Given the description of an element on the screen output the (x, y) to click on. 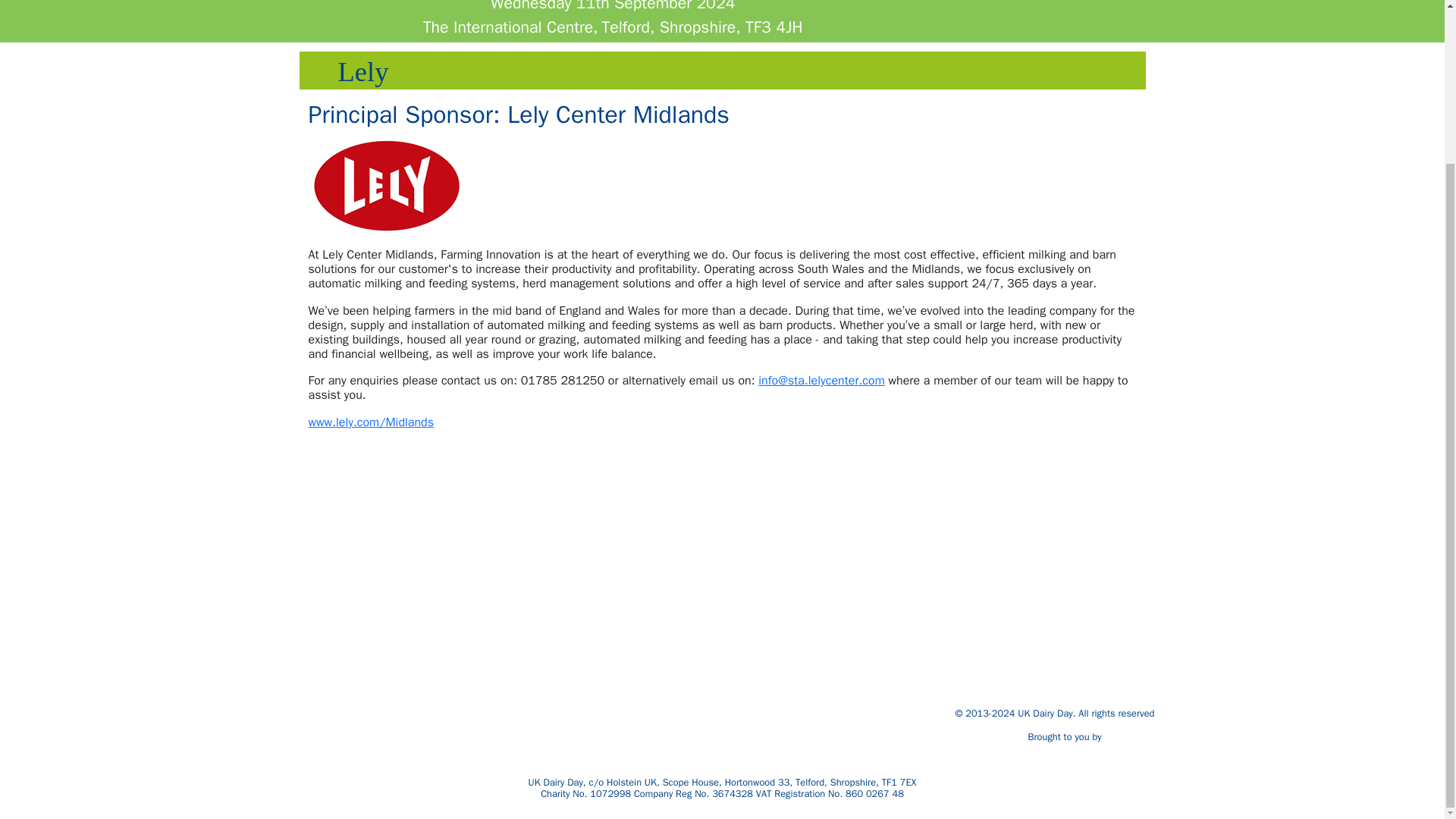
News (445, 695)
SPONSOR (494, 695)
Holstein UK Website (1129, 736)
Gallery (488, 711)
Policy-Terms (394, 743)
SHOW (431, 727)
Contact (490, 727)
EXHIBIT (427, 711)
Home (444, 680)
